Given the description of an element on the screen output the (x, y) to click on. 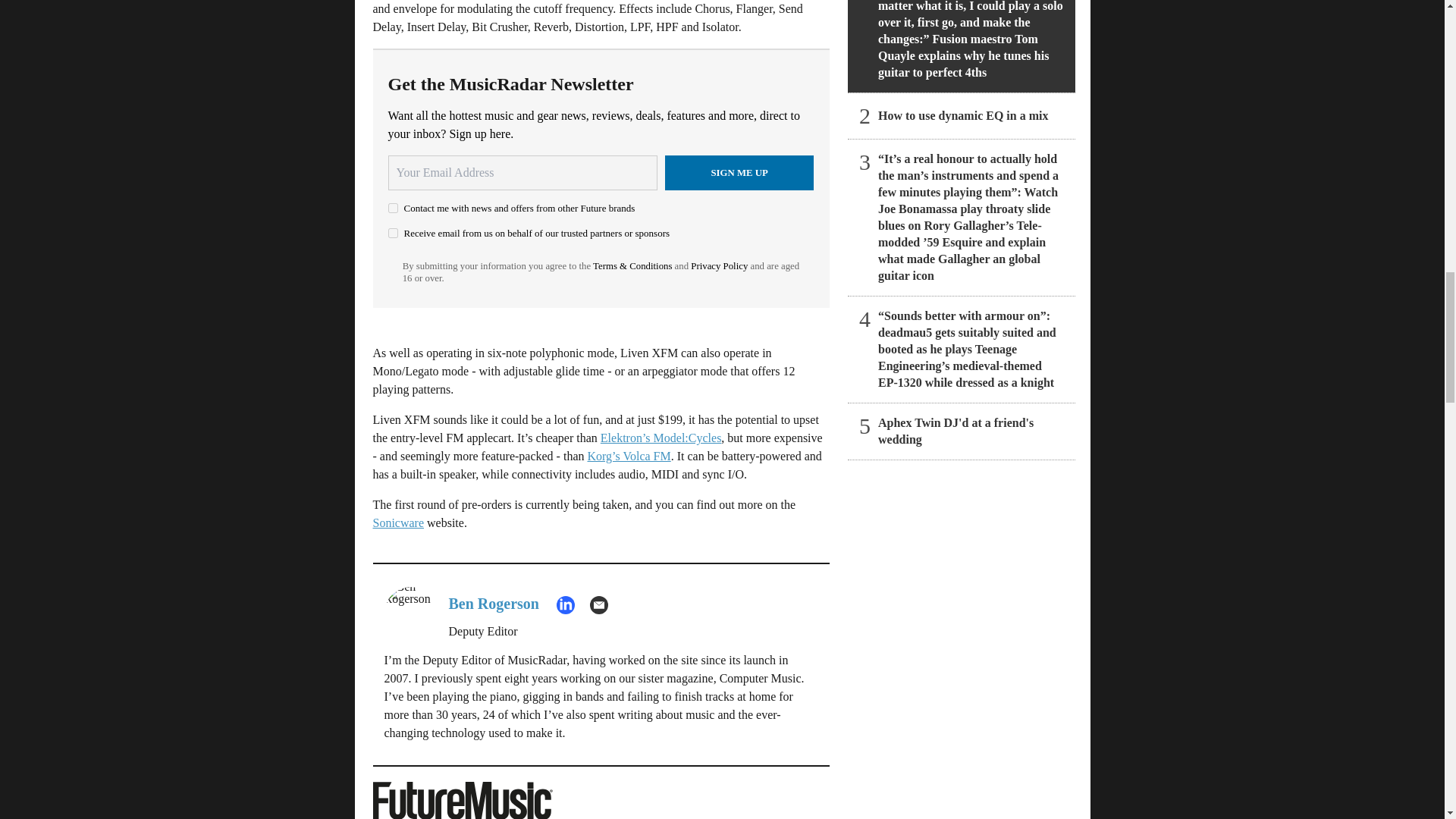
Sign me up (739, 172)
on (392, 207)
on (392, 233)
